Given the description of an element on the screen output the (x, y) to click on. 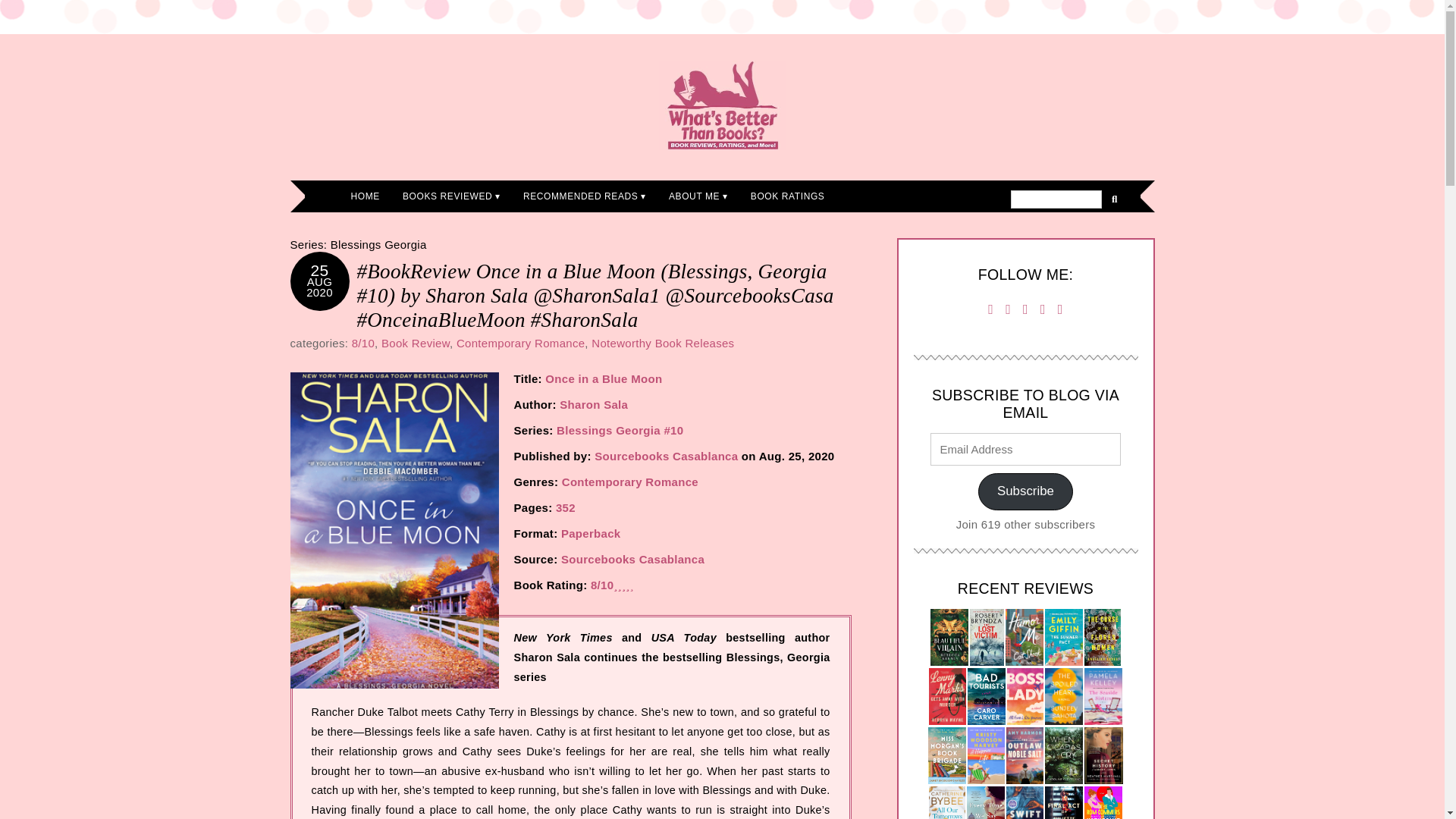
Contemporary Romance (521, 342)
ABOUT ME (698, 196)
What's Better Than Books? (722, 104)
Sourcebooks Casablanca (666, 455)
25 (320, 269)
Paperback (590, 533)
Search (1056, 199)
BOOKS REVIEWED (451, 196)
Book Review (415, 342)
Sourcebooks Casablanca (632, 558)
BOOK RATINGS (787, 196)
Sharon Sala (593, 404)
Contemporary Romance (630, 481)
HOME (365, 196)
RECOMMENDED READS (585, 196)
